Given the description of an element on the screen output the (x, y) to click on. 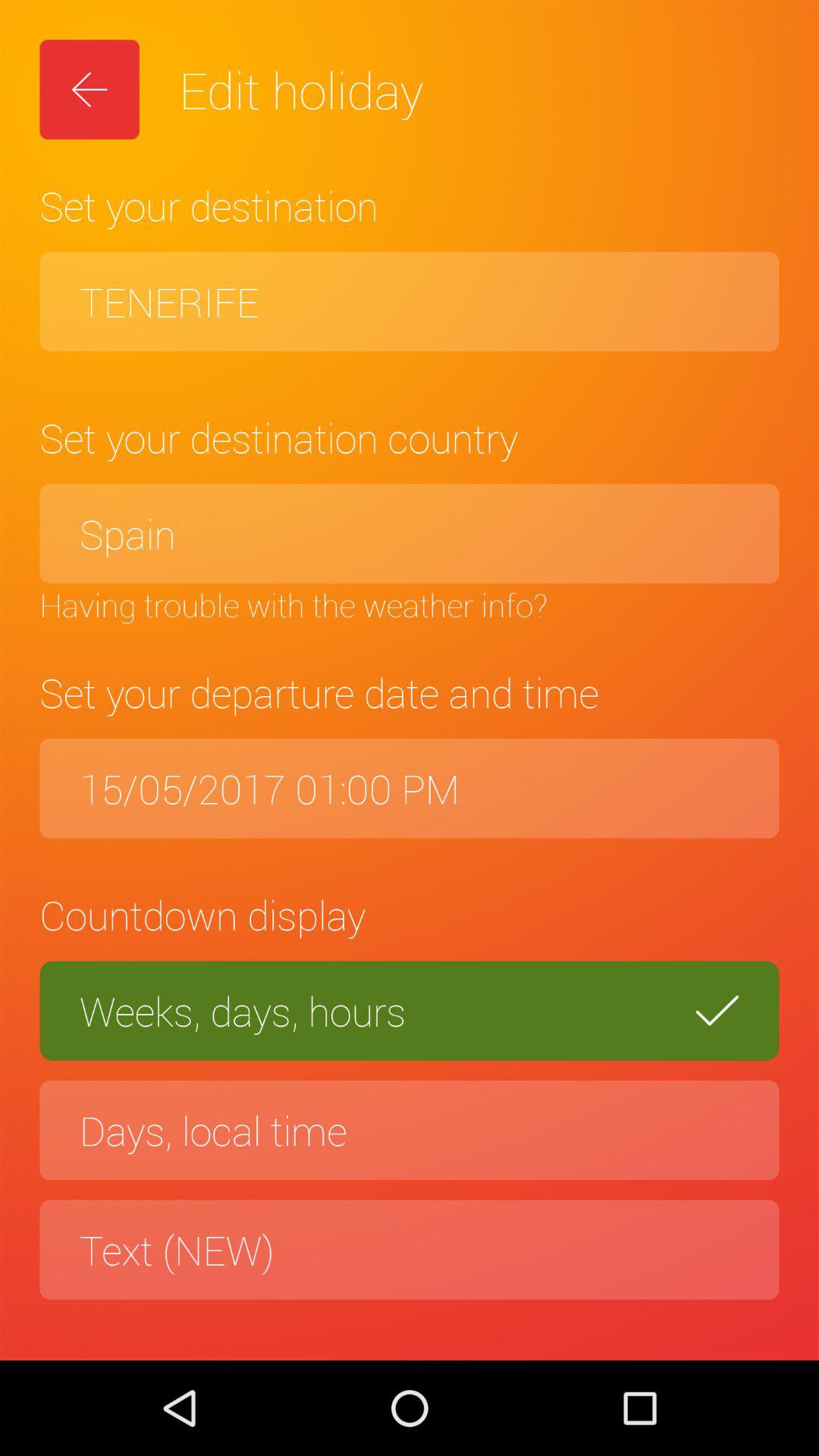
press icon below set your destination (409, 533)
